Given the description of an element on the screen output the (x, y) to click on. 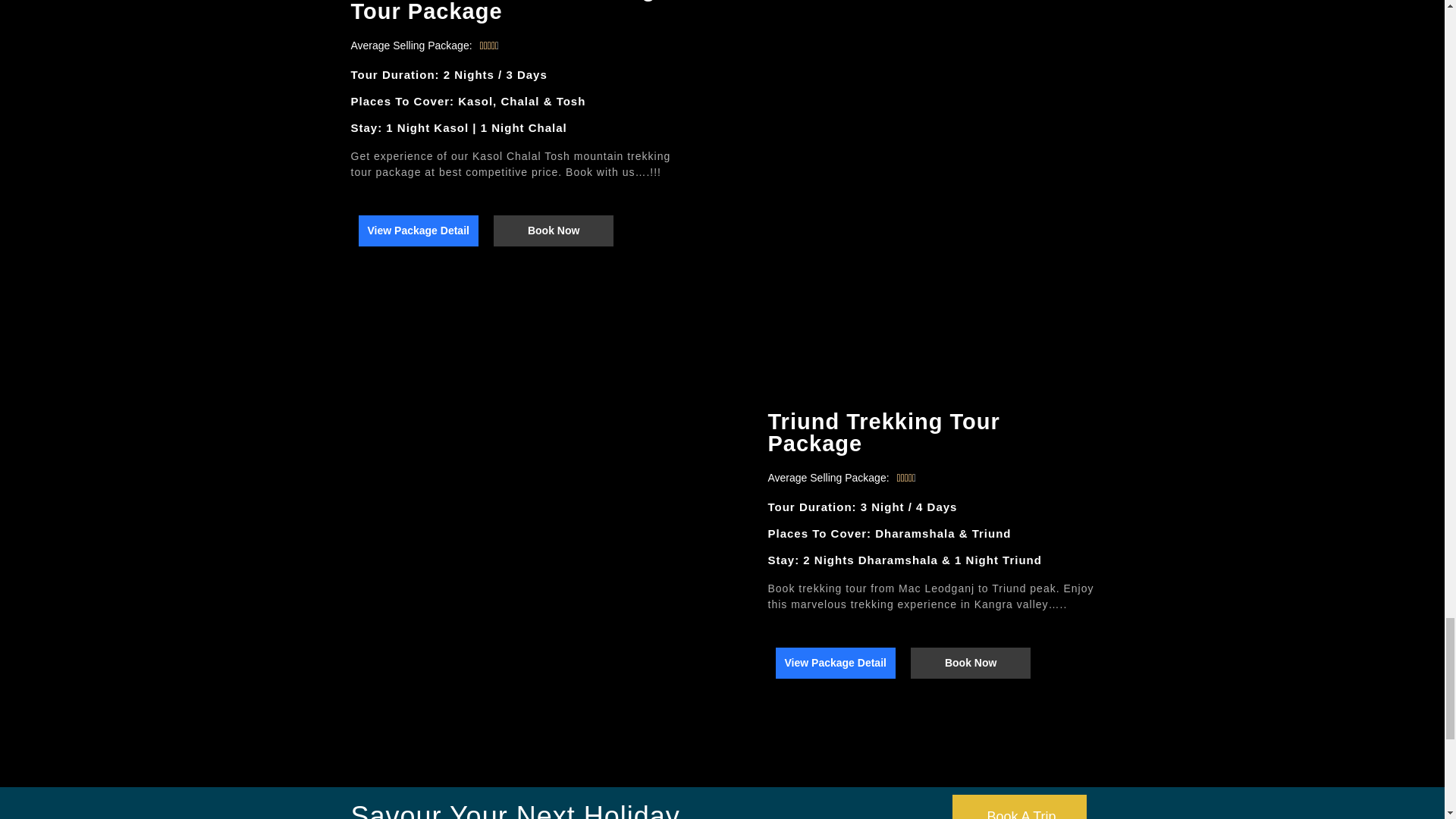
Book A Trip (1019, 806)
View Package Detail (417, 230)
Book Now (552, 230)
View Package Detail (834, 662)
Book Now (970, 662)
